Given the description of an element on the screen output the (x, y) to click on. 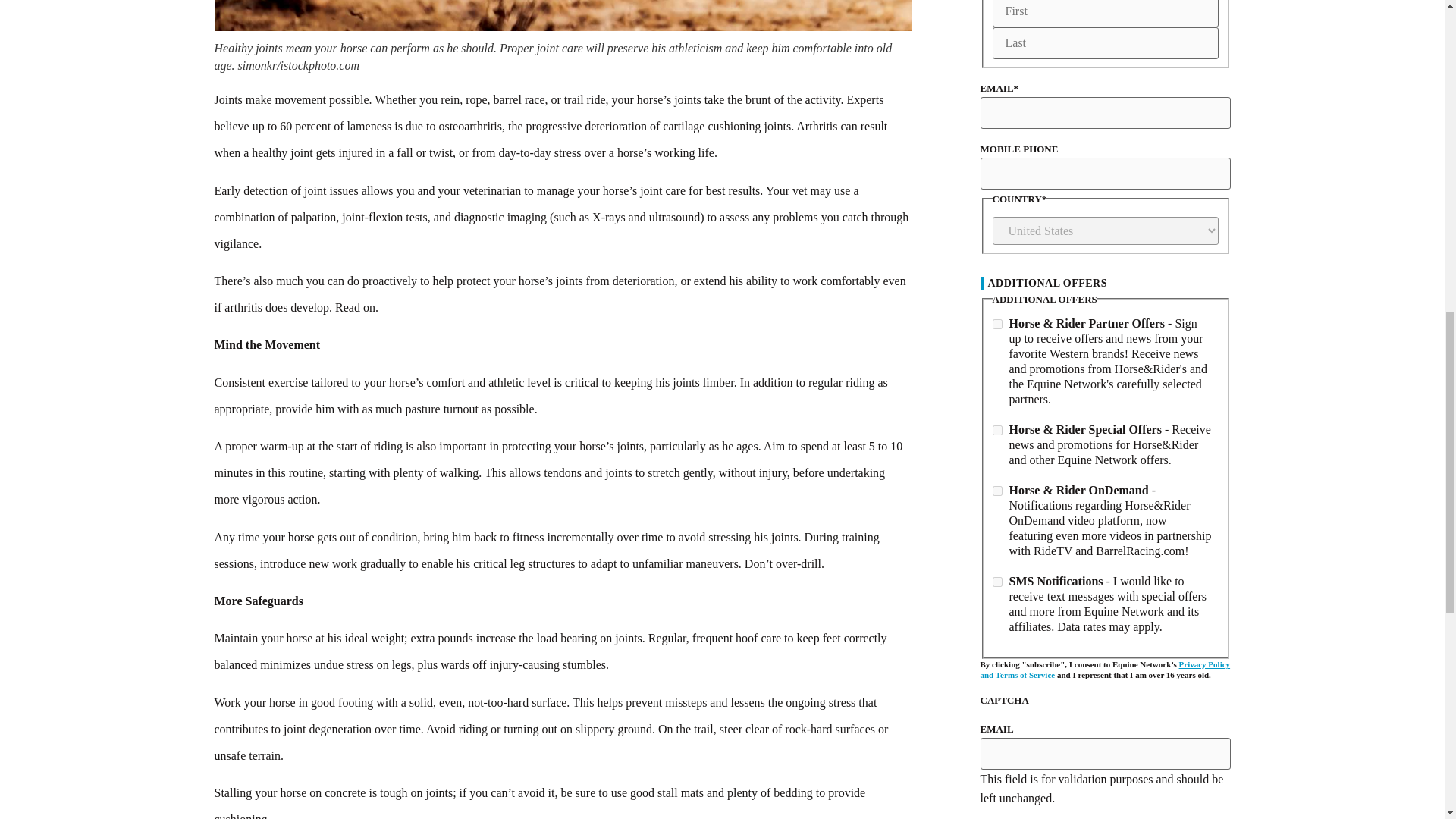
eb22c362-2761-498e-ac7c-53e16cf3c1e4 (996, 324)
SMS Notifications (996, 582)
Subscribe (1019, 813)
6e0952f2-008d-4794-b1f3-dd0176807a6c (996, 429)
4d4d6b60-fd63-4a08-9985-dfc93d0e8a7e (996, 491)
